Given the description of an element on the screen output the (x, y) to click on. 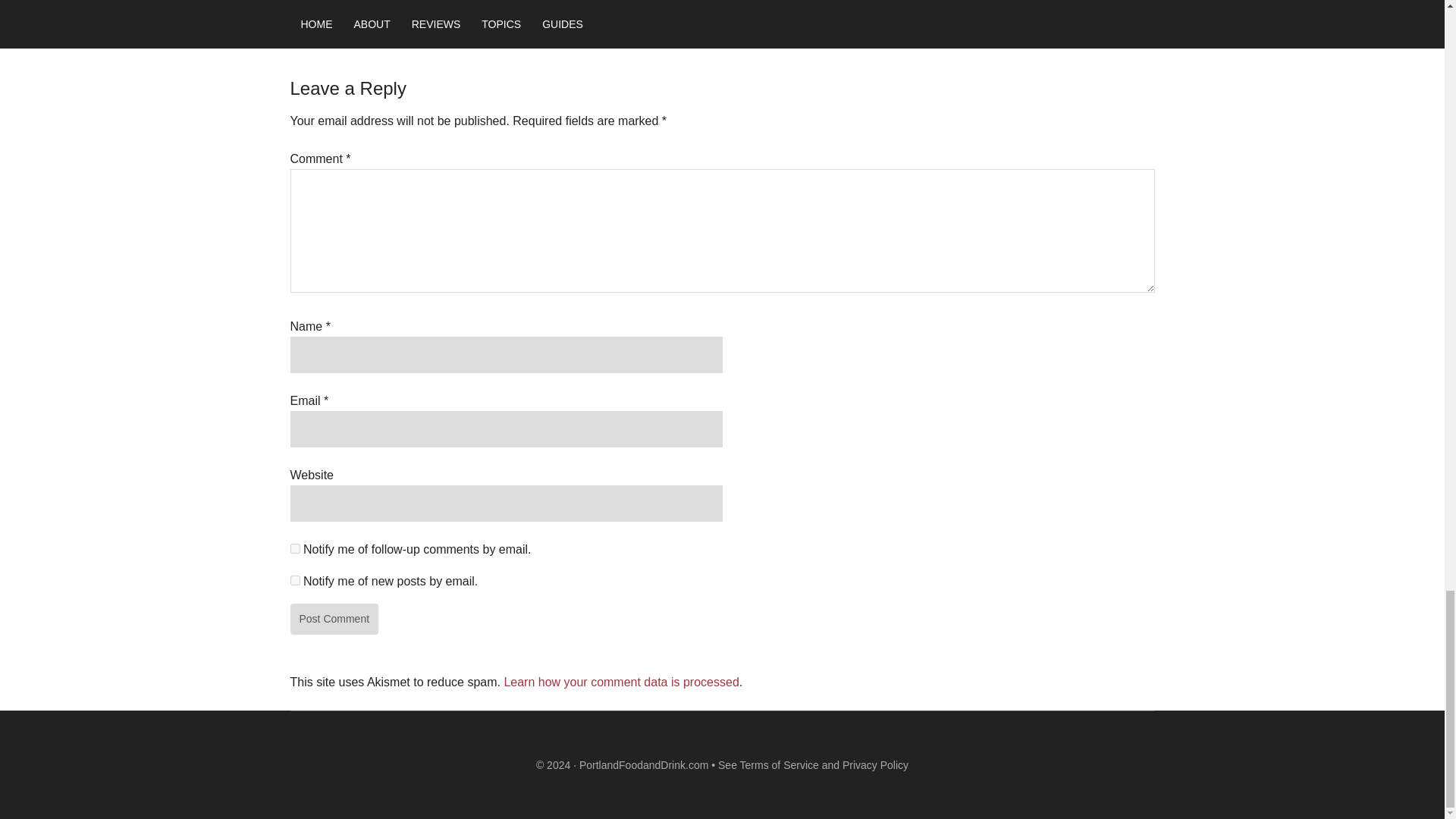
subscribe (294, 548)
subscribe (294, 580)
Post Comment (333, 618)
